Given the description of an element on the screen output the (x, y) to click on. 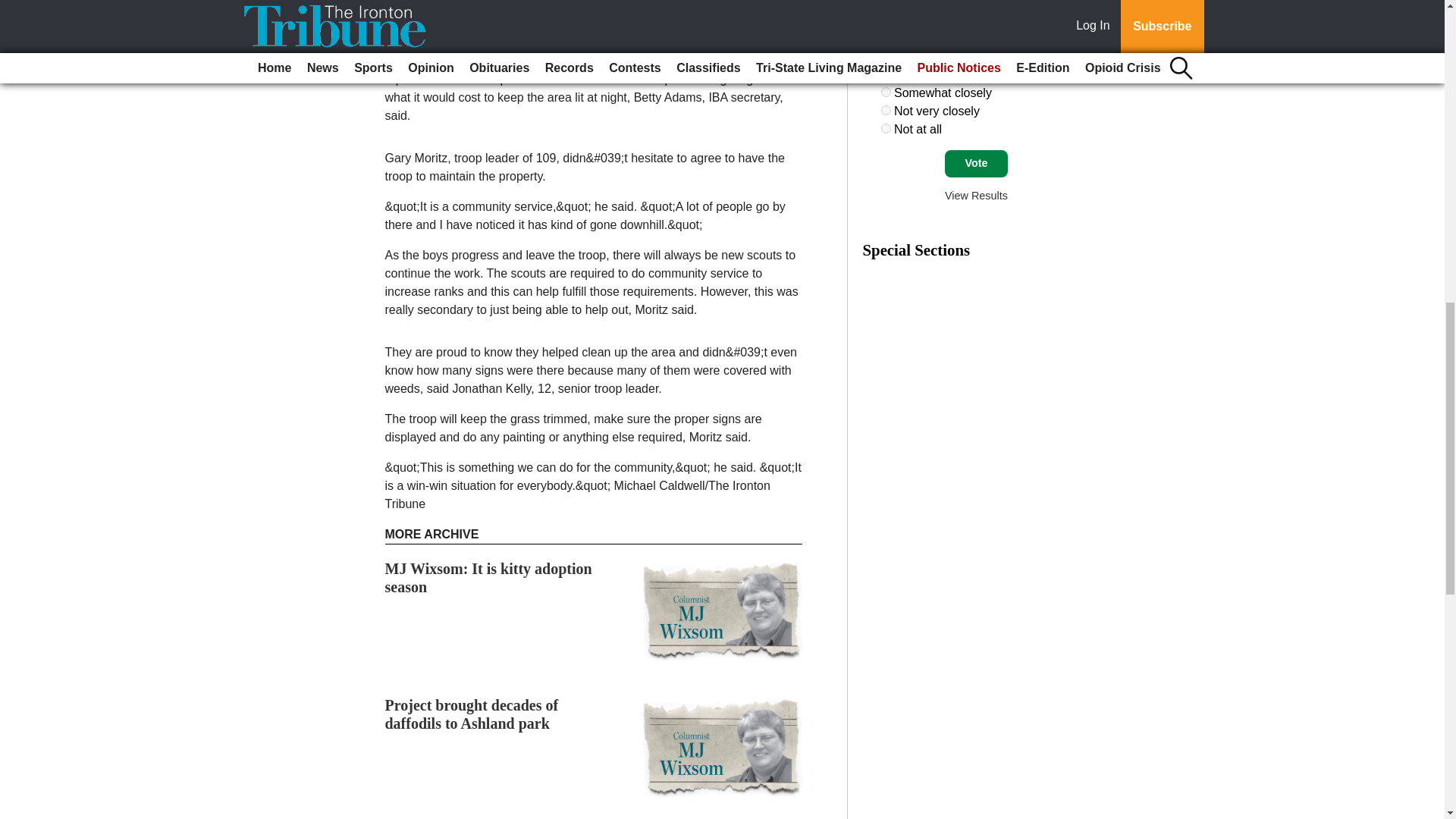
View Results Of This Poll (975, 195)
1435 (885, 128)
1433 (885, 91)
Project brought decades of daffodils to Ashland park (472, 714)
Project brought decades of daffodils to Ashland park (472, 714)
1432 (885, 73)
View Results (975, 195)
MJ Wixsom: It is kitty adoption season (488, 577)
1434 (885, 110)
   Vote    (975, 163)
MJ Wixsom: It is kitty adoption season (488, 577)
